Given the description of an element on the screen output the (x, y) to click on. 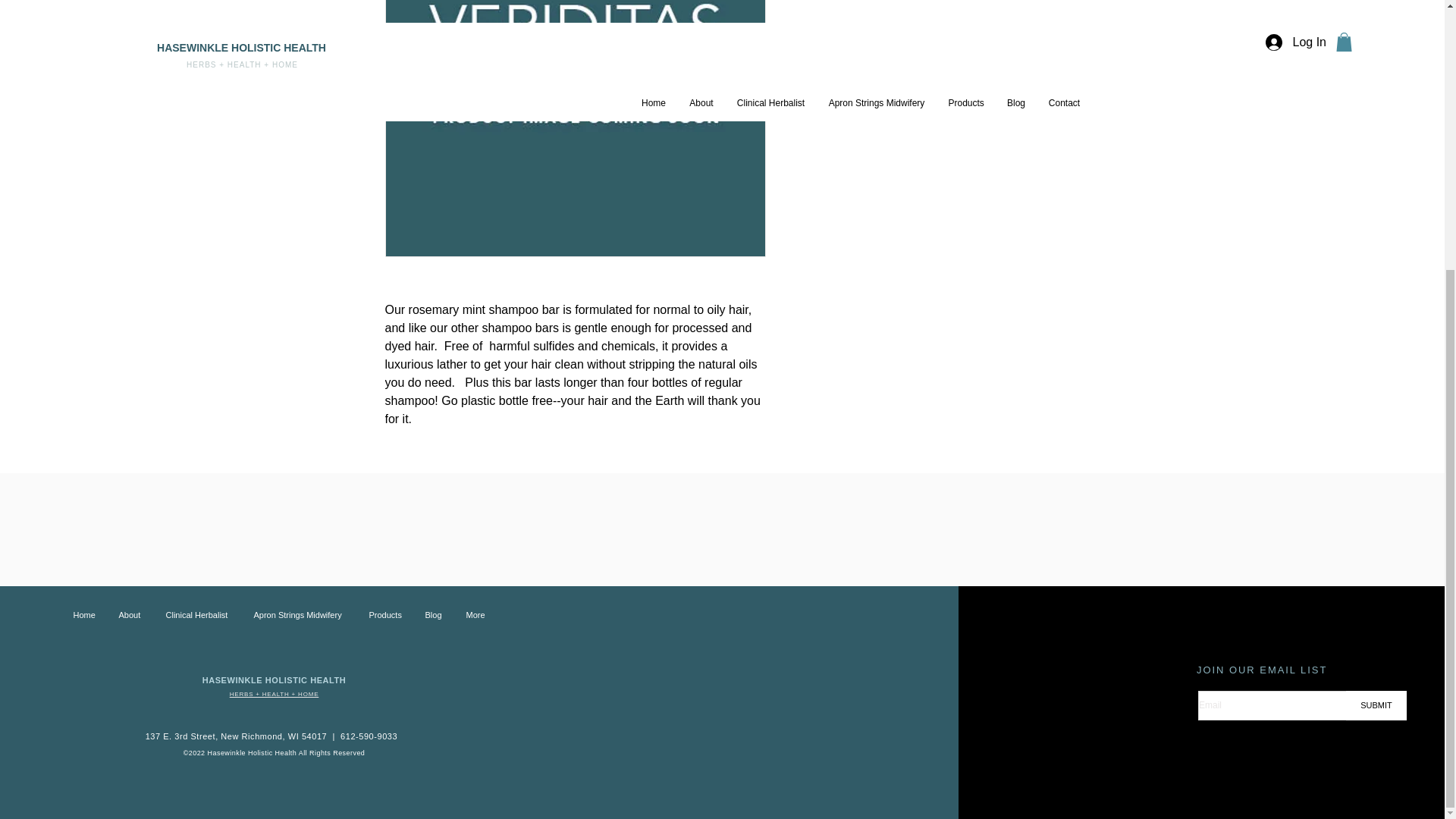
Blog (433, 614)
Apron Strings Midwifery (300, 614)
SUBMIT (1375, 705)
HASEWINKLE HOLISTIC HEALTH (274, 679)
Home (84, 614)
Size (924, 28)
Clinical Herbalist (198, 614)
Products (385, 614)
About (130, 614)
